Given the description of an element on the screen output the (x, y) to click on. 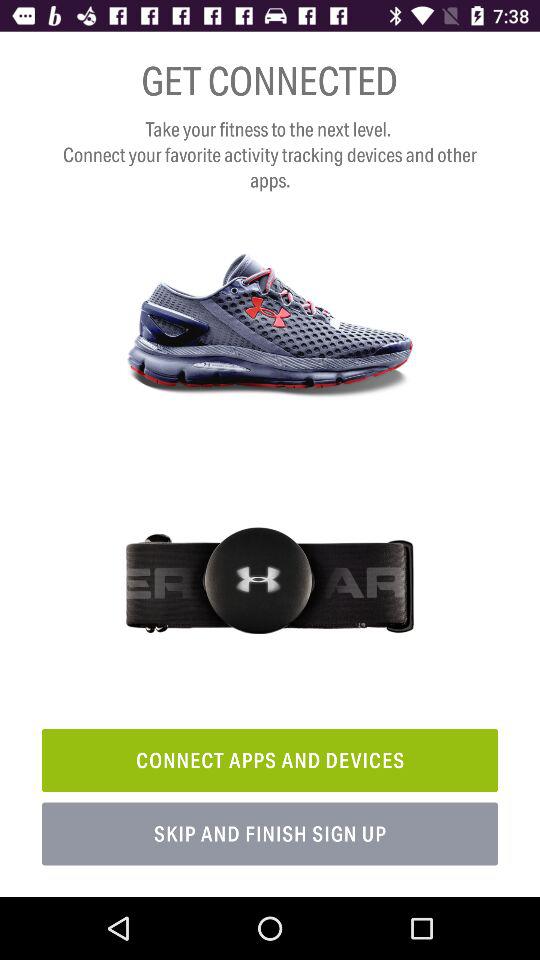
scroll until the skip and finish (269, 833)
